Given the description of an element on the screen output the (x, y) to click on. 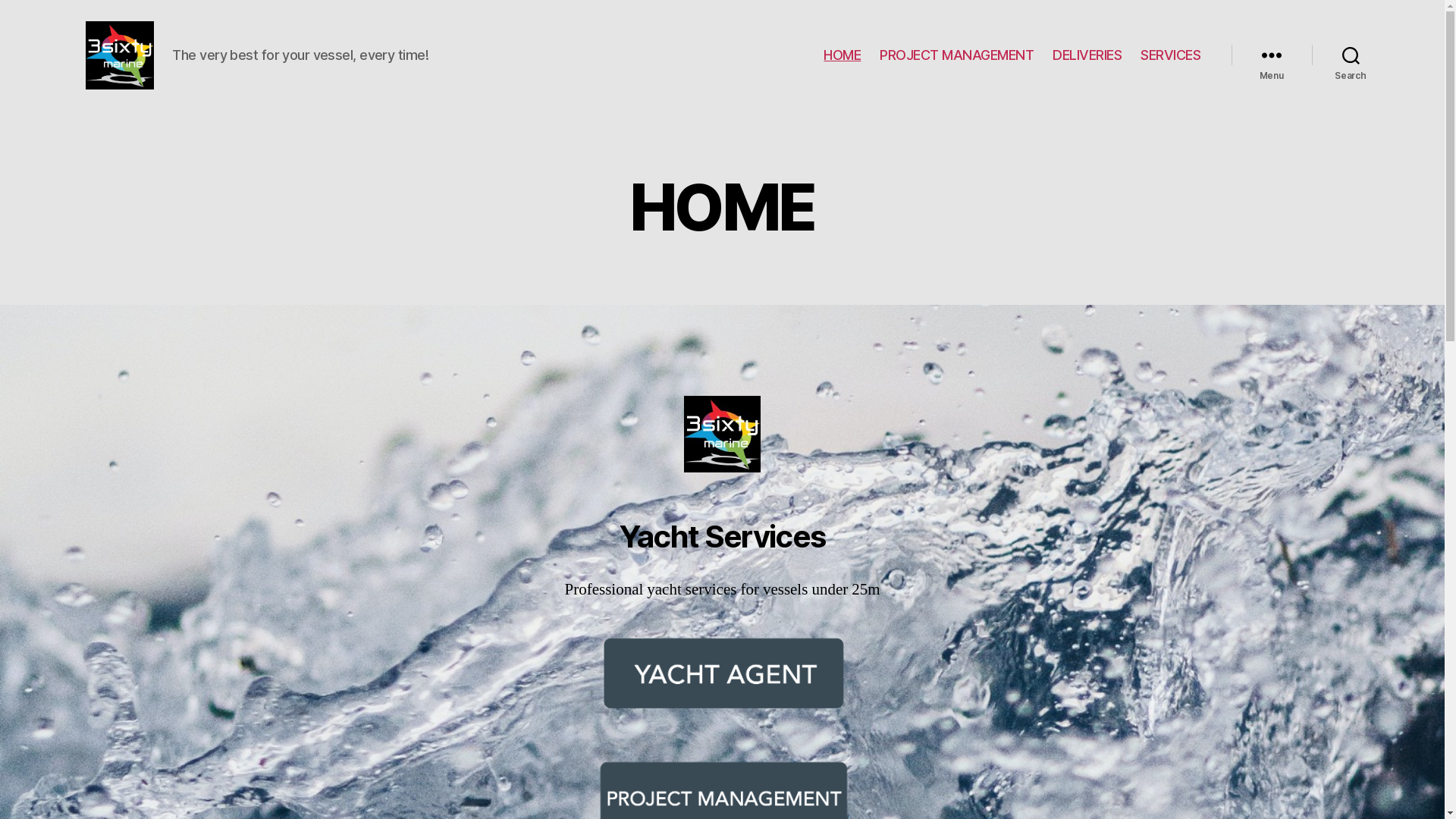
PROJECT MANAGEMENT Element type: text (956, 55)
DELIVERIES Element type: text (1086, 55)
Menu Element type: text (1271, 55)
SERVICES Element type: text (1170, 55)
HOME Element type: text (841, 55)
Search Element type: text (1350, 55)
